Given the description of an element on the screen output the (x, y) to click on. 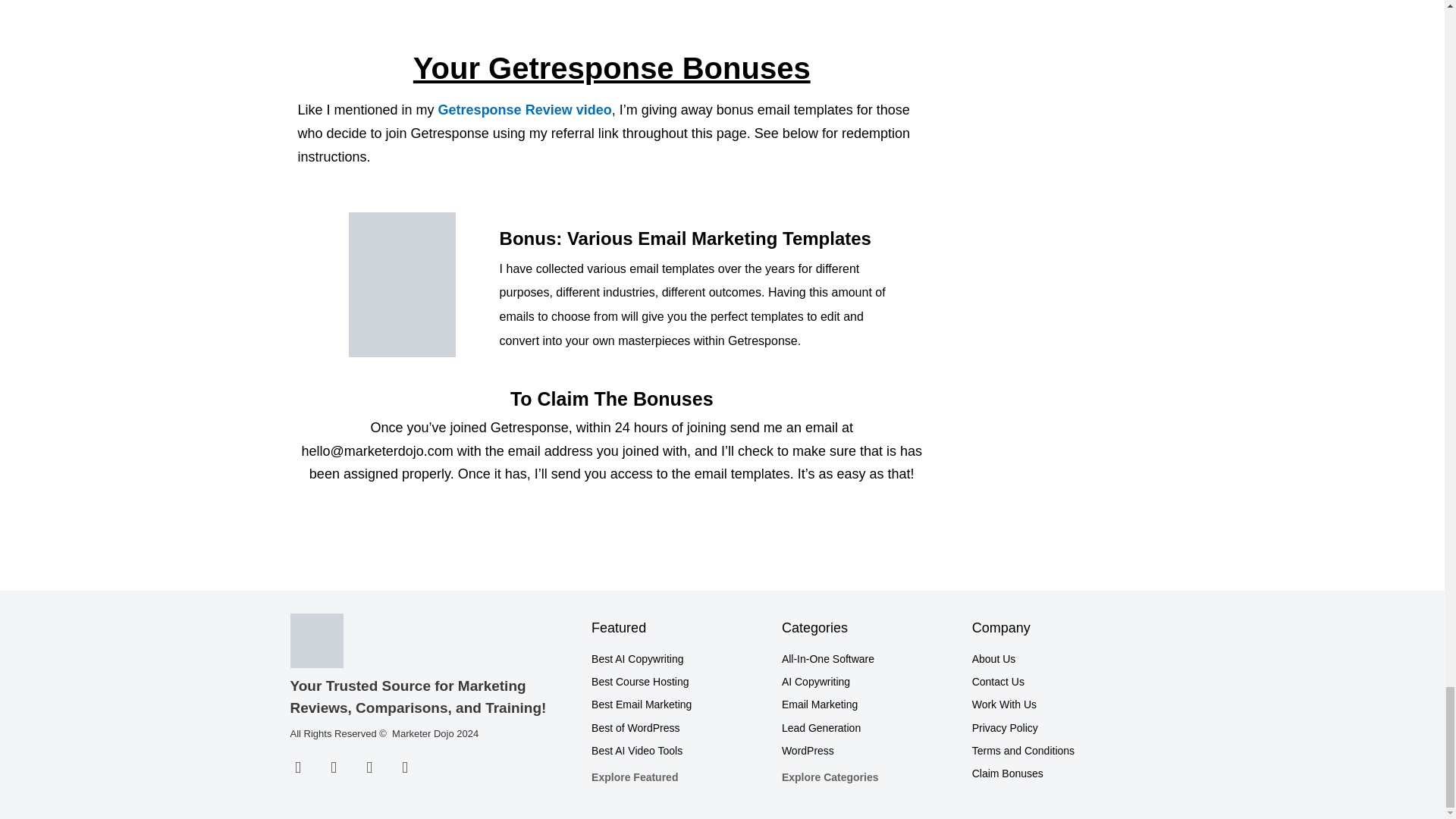
Best of WordPress (679, 728)
Best Course Hosting (679, 681)
Getresponse Review video (524, 109)
All-In-One Software (868, 659)
Best Email Marketing (679, 704)
Explore Featured (679, 777)
Best AI Video Tools (679, 751)
Best AI Copywriting (679, 659)
